Given the description of an element on the screen output the (x, y) to click on. 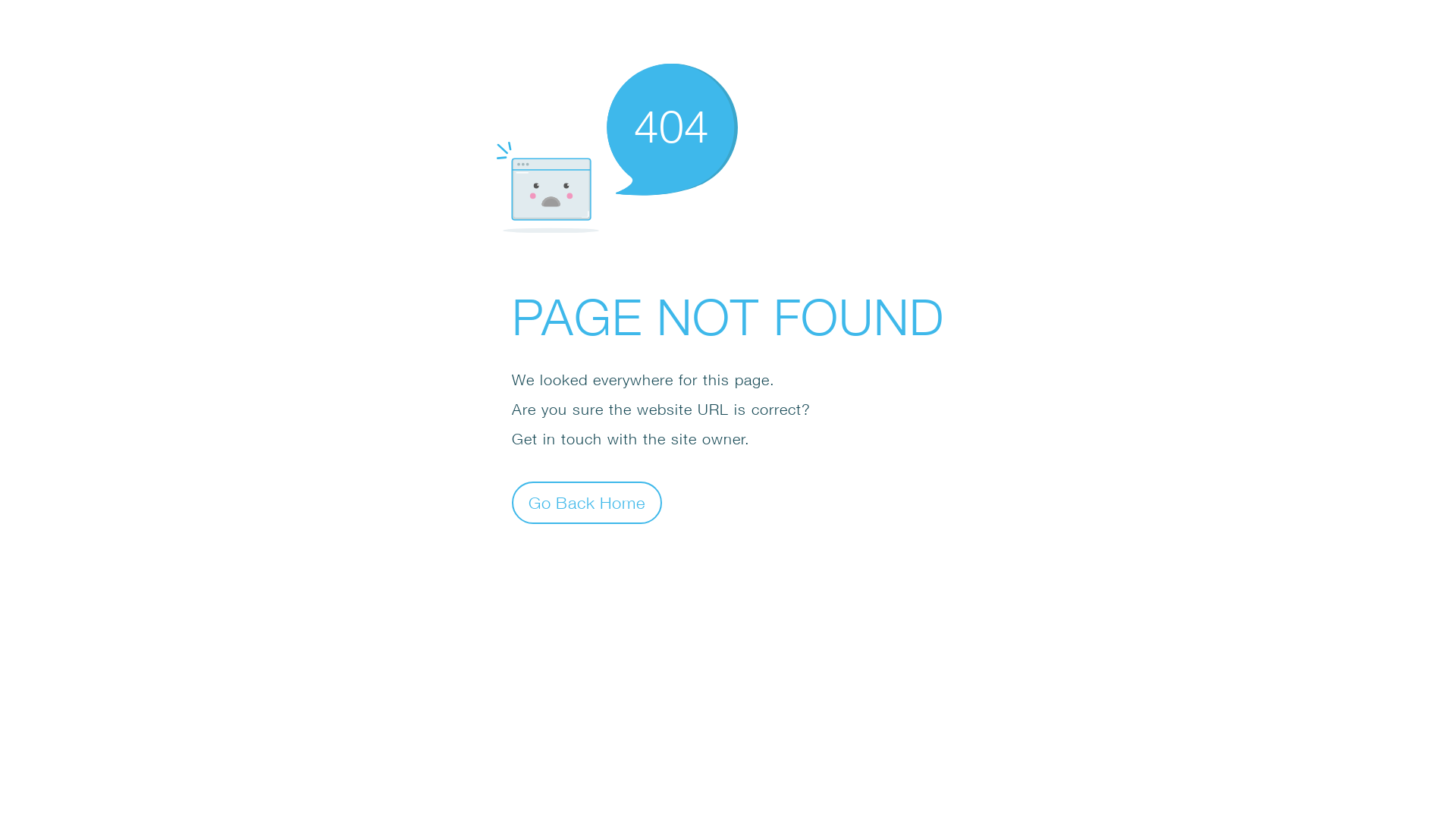
Go Back Home Element type: text (586, 502)
